Given the description of an element on the screen output the (x, y) to click on. 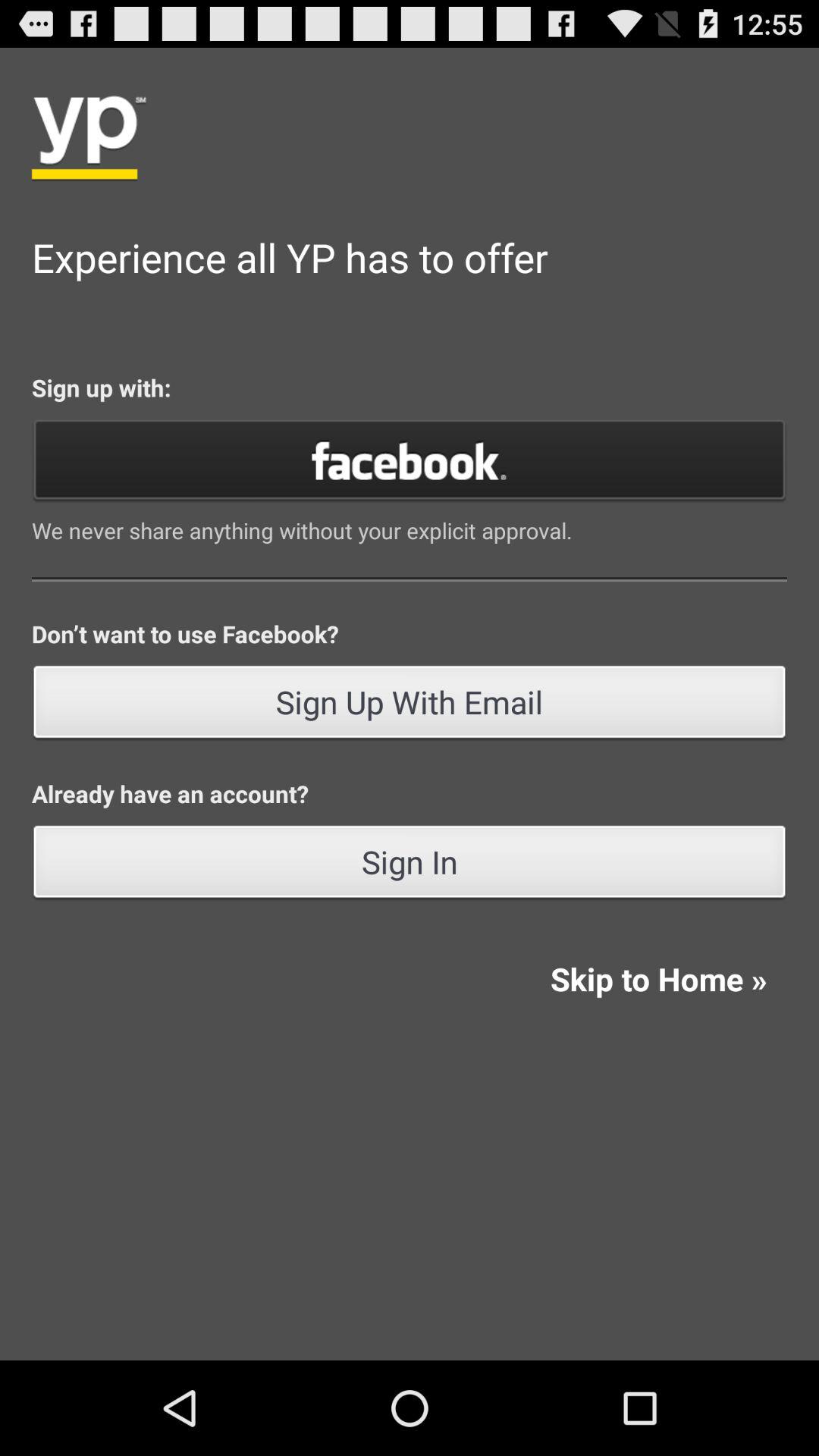
signup with facebook (409, 459)
